Given the description of an element on the screen output the (x, y) to click on. 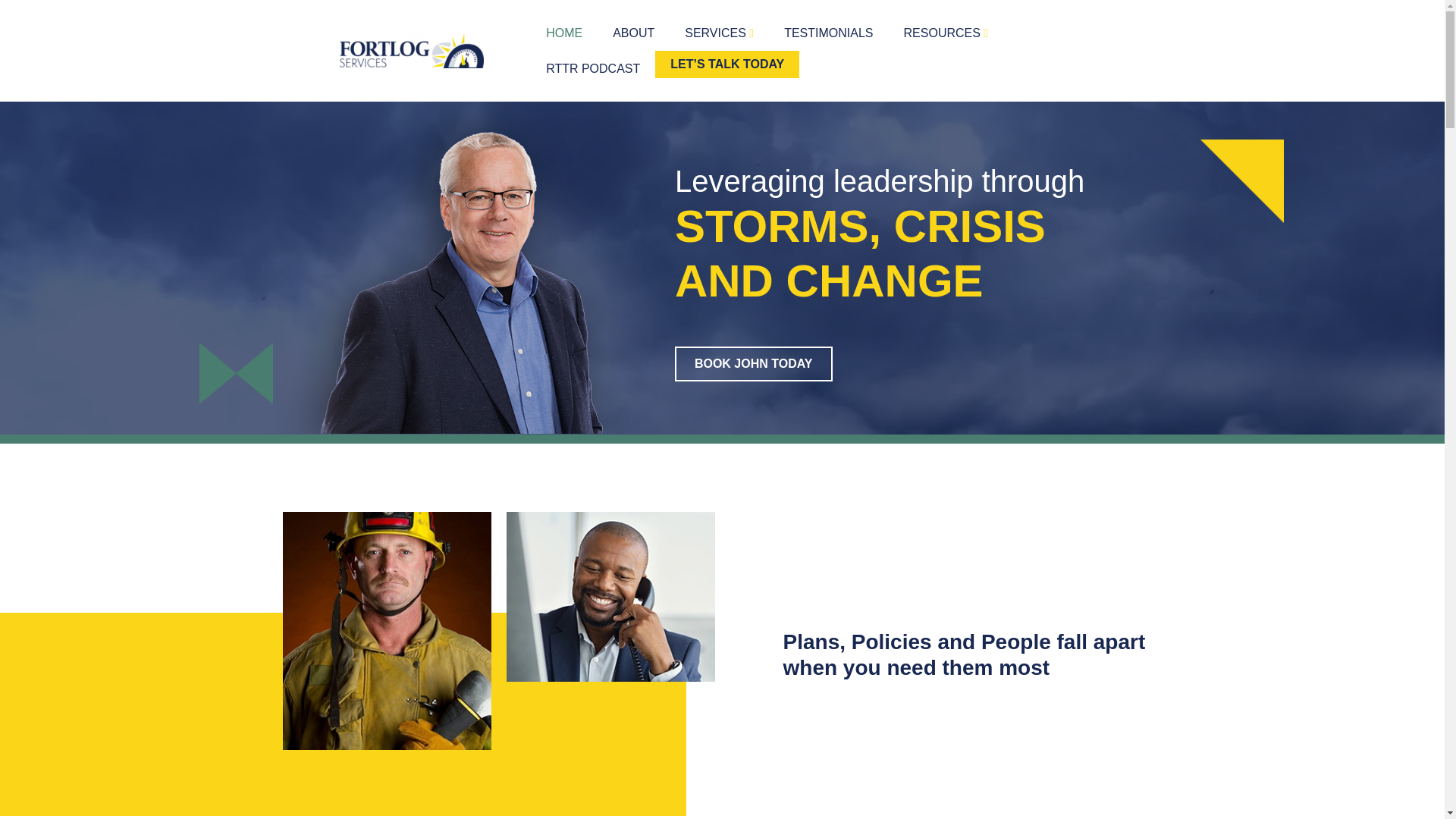
HOME (563, 32)
RESOURCES (946, 32)
RTTR PODCAST (593, 68)
FORTLOG Services (411, 50)
BOOK JOHN TODAY (753, 363)
ABOUT (632, 32)
SERVICES (718, 32)
TESTIMONIALS (828, 32)
